Given the description of an element on the screen output the (x, y) to click on. 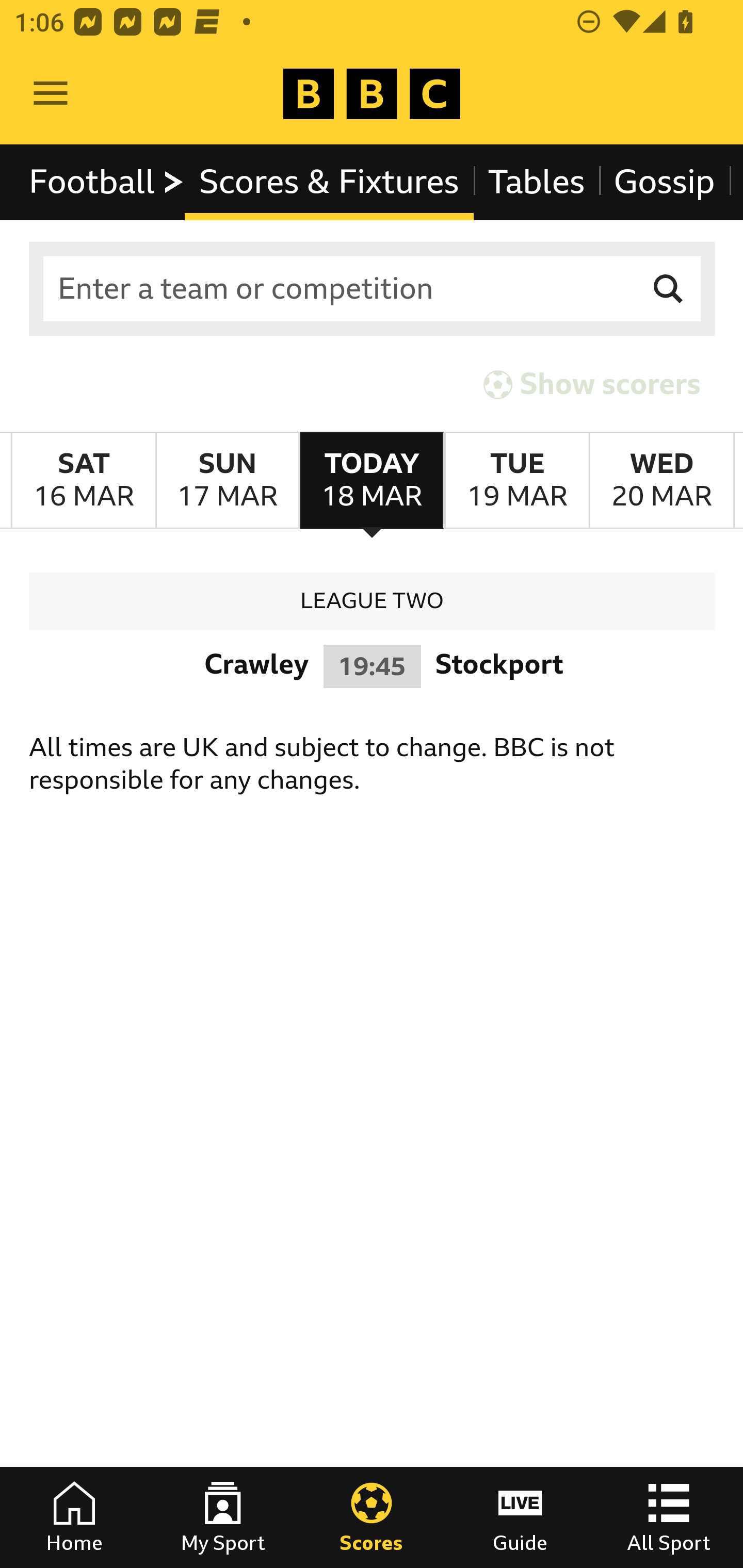
Open Menu (50, 93)
Football  (106, 181)
Scores & Fixtures (329, 181)
Tables (536, 181)
Gossip (664, 181)
Search (669, 289)
Show scorers (591, 383)
SaturdayMarch 16th Saturday March 16th (83, 480)
SundayMarch 17th Sunday March 17th (227, 480)
TuesdayMarch 19th Tuesday March 19th (516, 480)
WednesdayMarch 20th Wednesday March 20th (661, 480)
Home (74, 1517)
My Sport (222, 1517)
Guide (519, 1517)
All Sport (668, 1517)
